Given the description of an element on the screen output the (x, y) to click on. 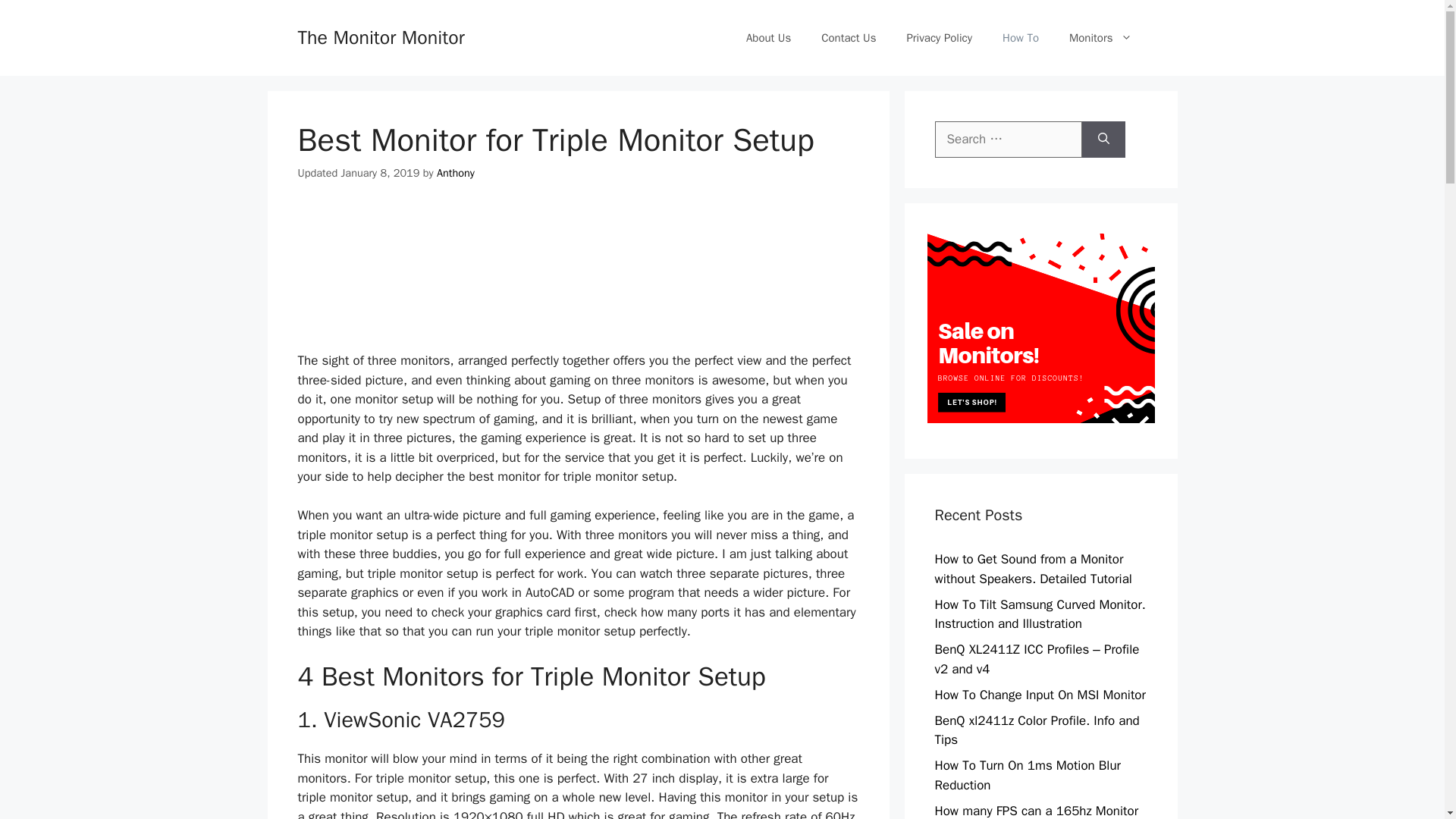
Privacy Policy (939, 37)
How To Turn On 1ms Motion Blur Reduction (1027, 775)
About Us (768, 37)
Contact Us (848, 37)
How many FPS can a 165hz Monitor Display? (1036, 810)
Anthony (455, 172)
BenQ xl2411z Color Profile. Info and Tips (1036, 730)
Search for: (1007, 139)
How To (1020, 37)
